Given the description of an element on the screen output the (x, y) to click on. 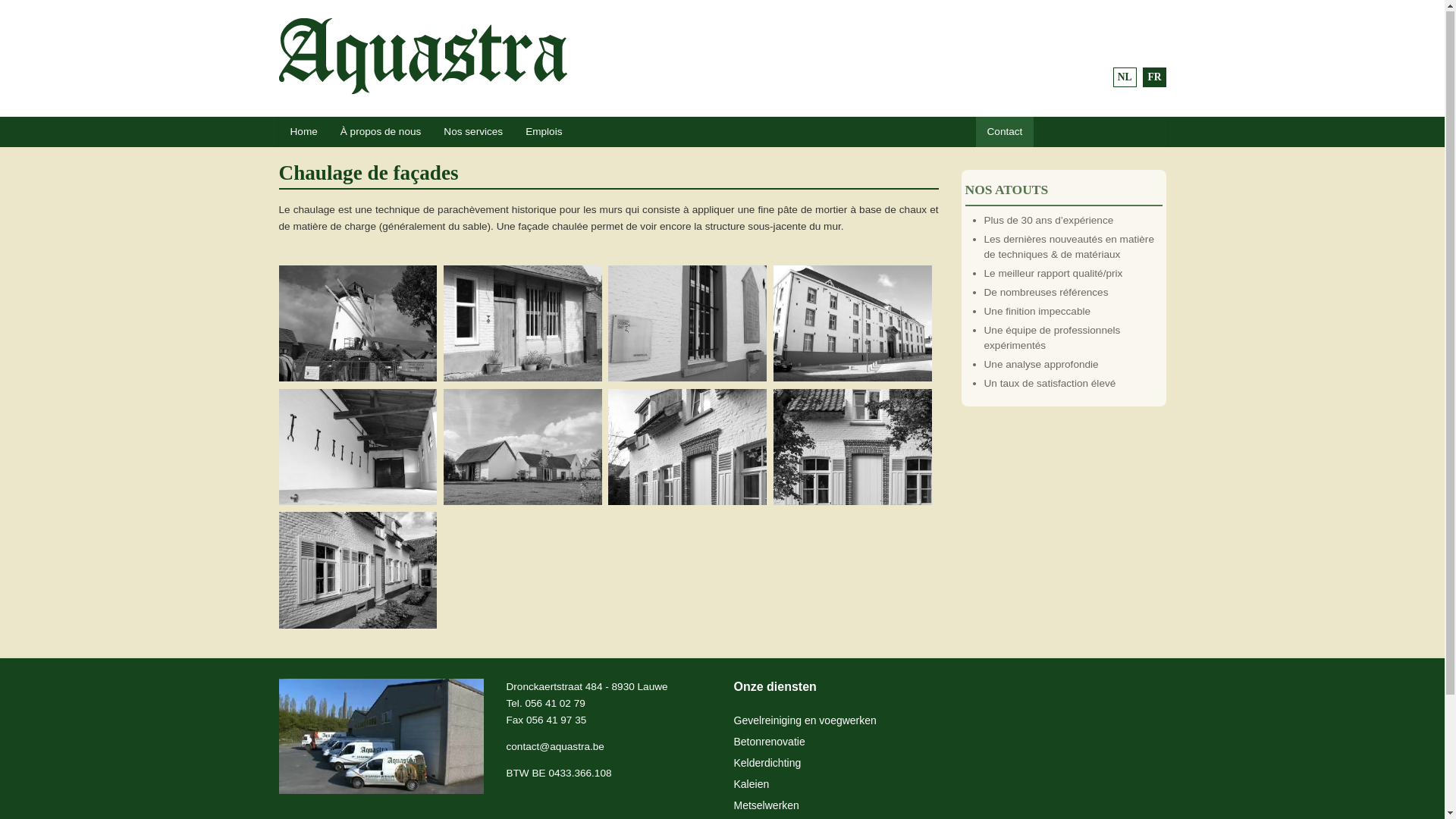
Betonrenovatie Element type: text (769, 742)
Contact Element type: text (1004, 132)
Skip to content Element type: text (34, 18)
FR Element type: text (1154, 77)
Nos services Element type: text (473, 132)
Accueil Element type: hover (430, 56)
Skip to navigation Element type: text (40, 18)
Emplois Element type: text (543, 132)
Home Element type: text (304, 132)
Kaleien Element type: text (751, 784)
Metselwerken Element type: text (766, 806)
Gevelreiniging en voegwerken Element type: text (805, 721)
Kelderdichting Element type: text (767, 763)
contact@aquastra.be Element type: text (555, 747)
NL Element type: text (1124, 77)
